Given the description of an element on the screen output the (x, y) to click on. 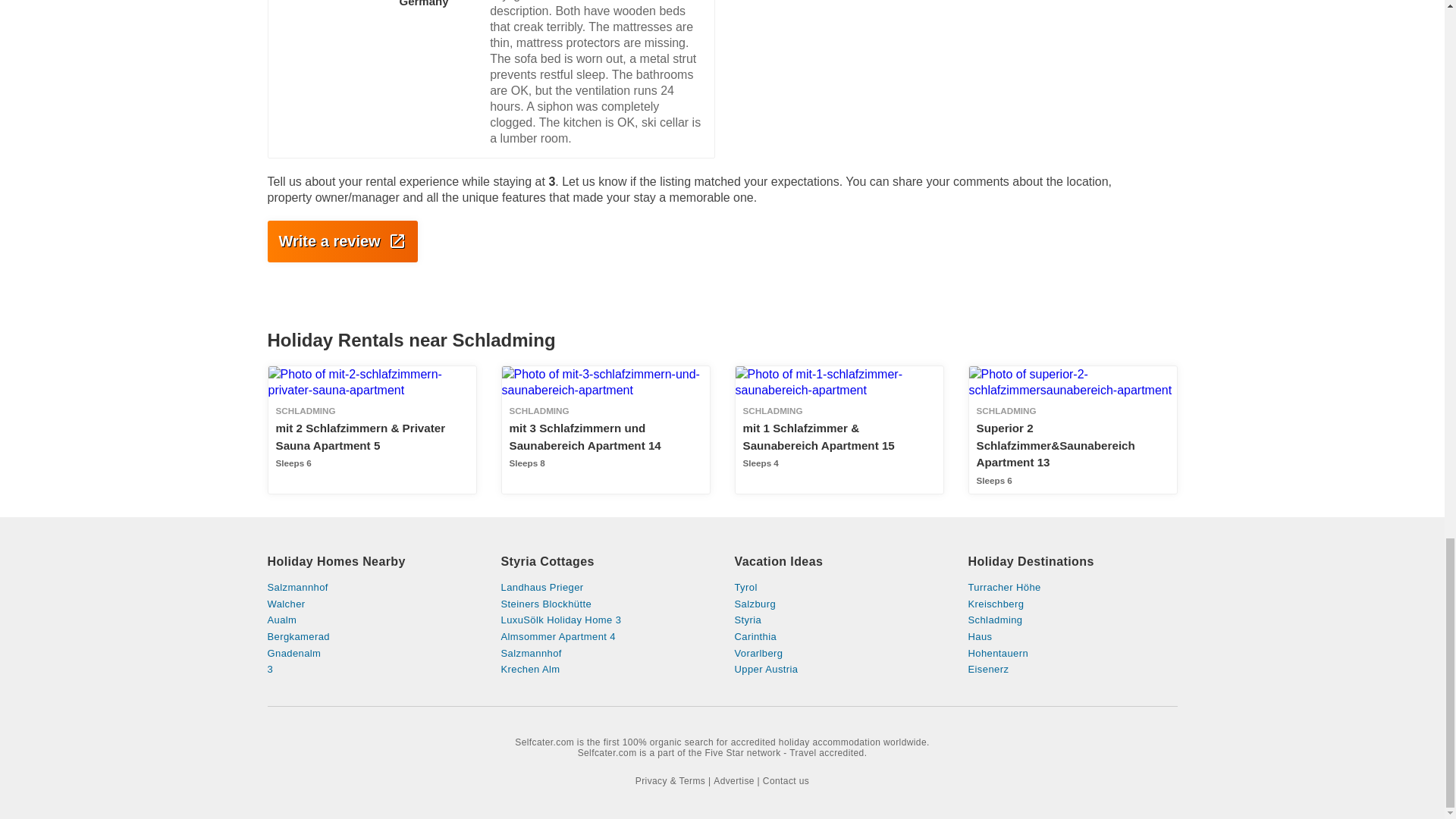
Self-catering Salzmannhof (605, 653)
Write a review (341, 241)
Self-catering Tyrol (838, 587)
Self-catering Salzburg (838, 604)
Bergkamerad (371, 636)
Styria (838, 620)
Self-catering 3 (371, 669)
3 (371, 669)
Self-catering Walcher (371, 604)
Salzburg (838, 604)
